Given the description of an element on the screen output the (x, y) to click on. 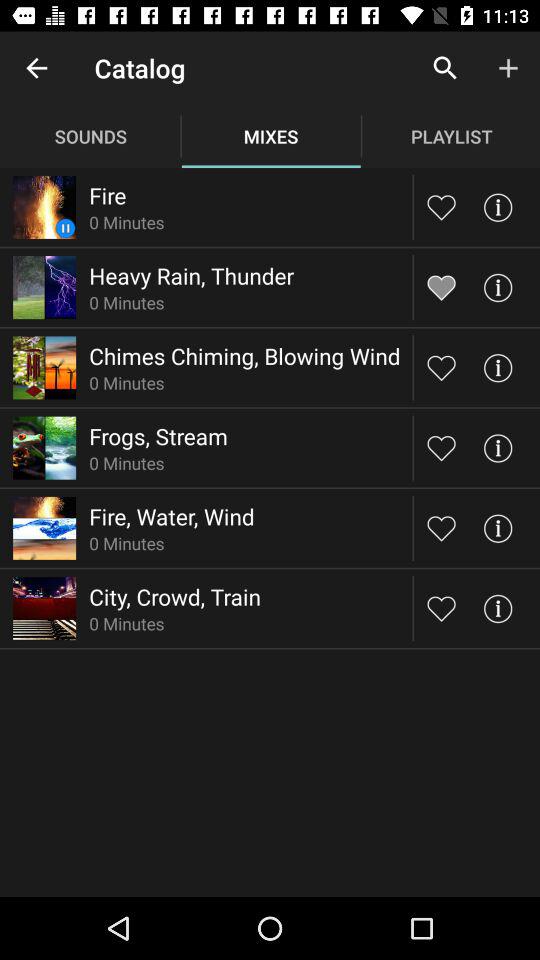
find info (498, 447)
